Given the description of an element on the screen output the (x, y) to click on. 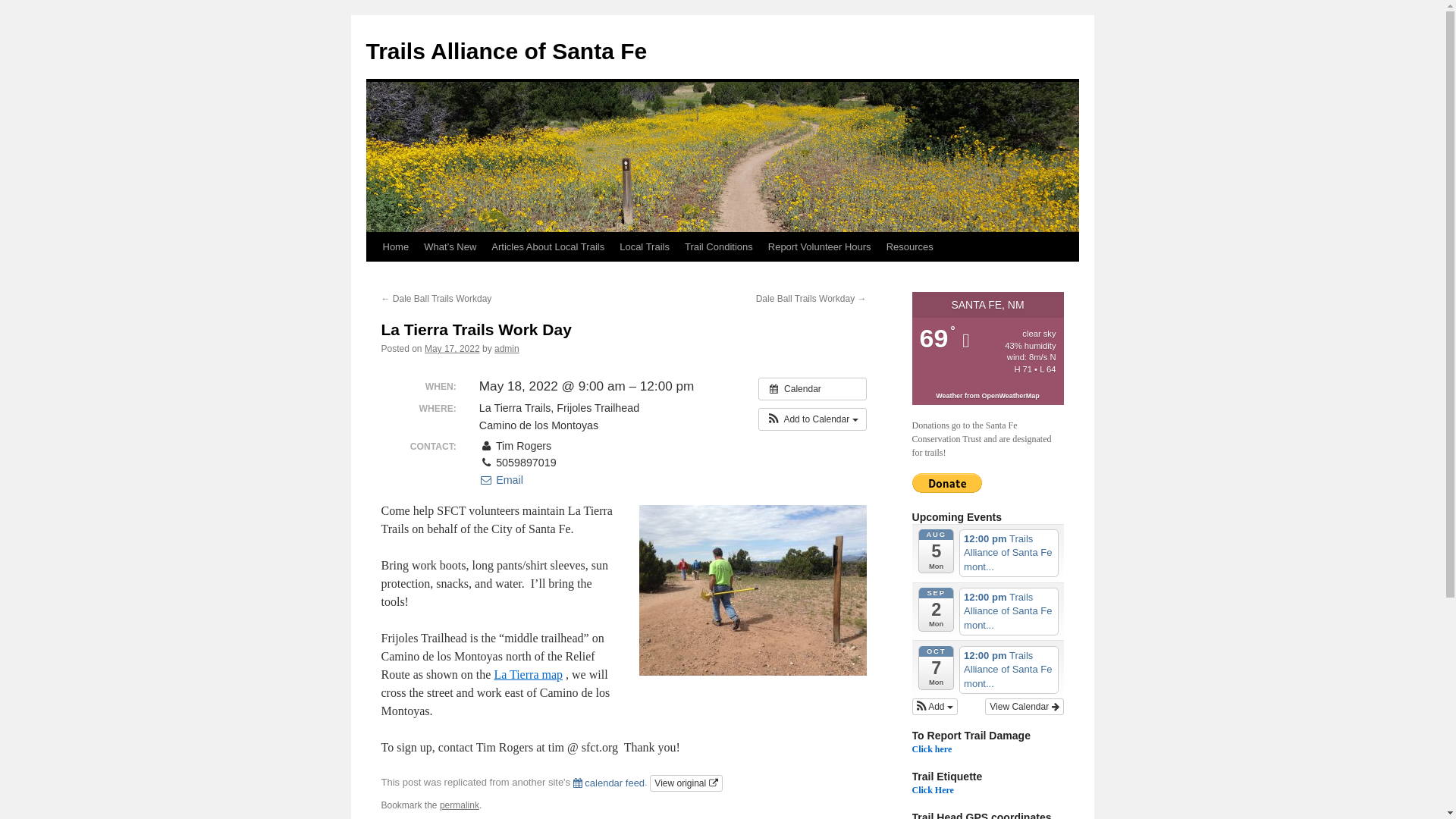
View all events (812, 388)
Email (500, 480)
View Calendar (1023, 706)
calendar feed (609, 782)
12:00 pm Trails Alliance of Santa Fe mont... (1008, 553)
5:08 pm (452, 348)
View original (685, 782)
May 17, 2022 (452, 348)
Report Volunteer Hours (819, 246)
View all posts by admin (507, 348)
Resources (909, 246)
Articles About Local Trails (547, 246)
Calendar (812, 388)
La Tierra map (527, 674)
12:00 pm Trails Alliance of Santa Fe mont... (1008, 611)
